Given the description of an element on the screen output the (x, y) to click on. 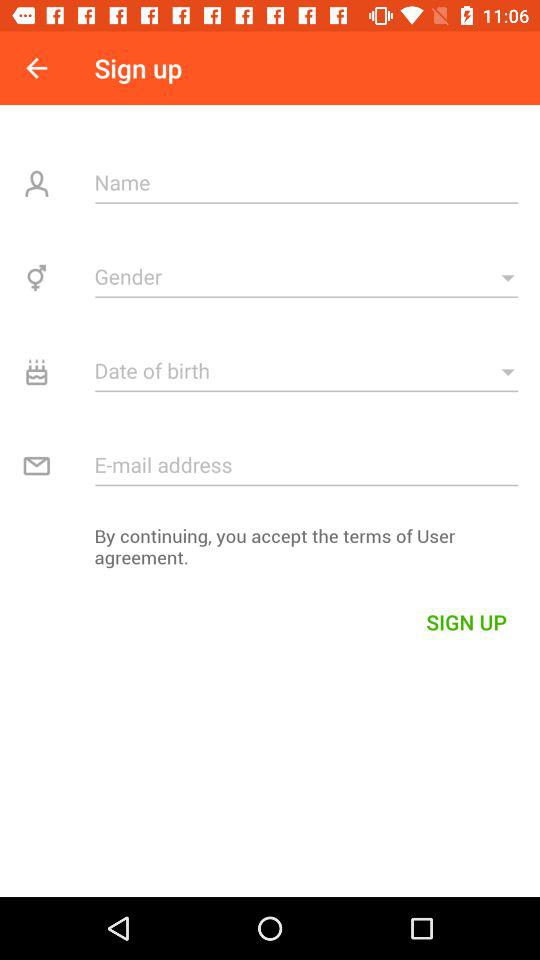
go back (36, 68)
